Given the description of an element on the screen output the (x, y) to click on. 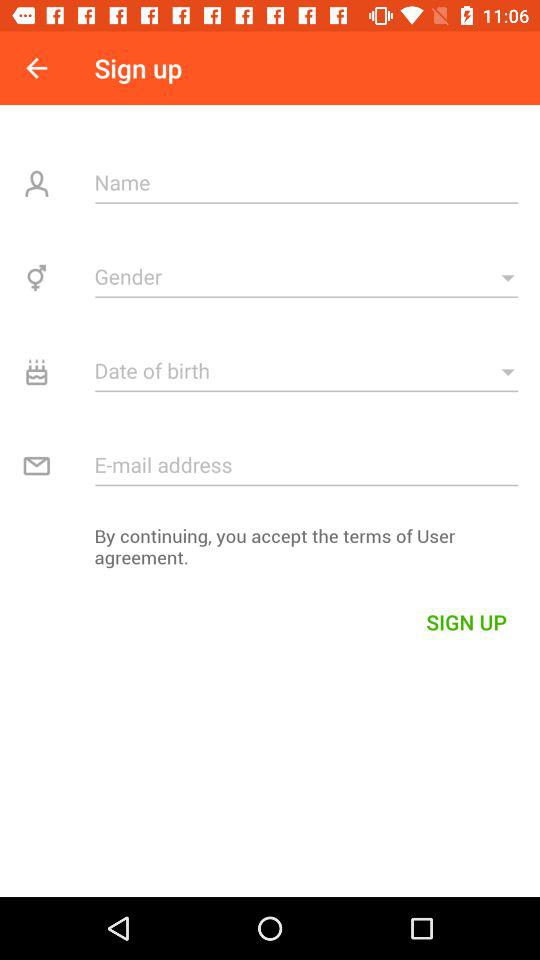
go back (36, 68)
